Given the description of an element on the screen output the (x, y) to click on. 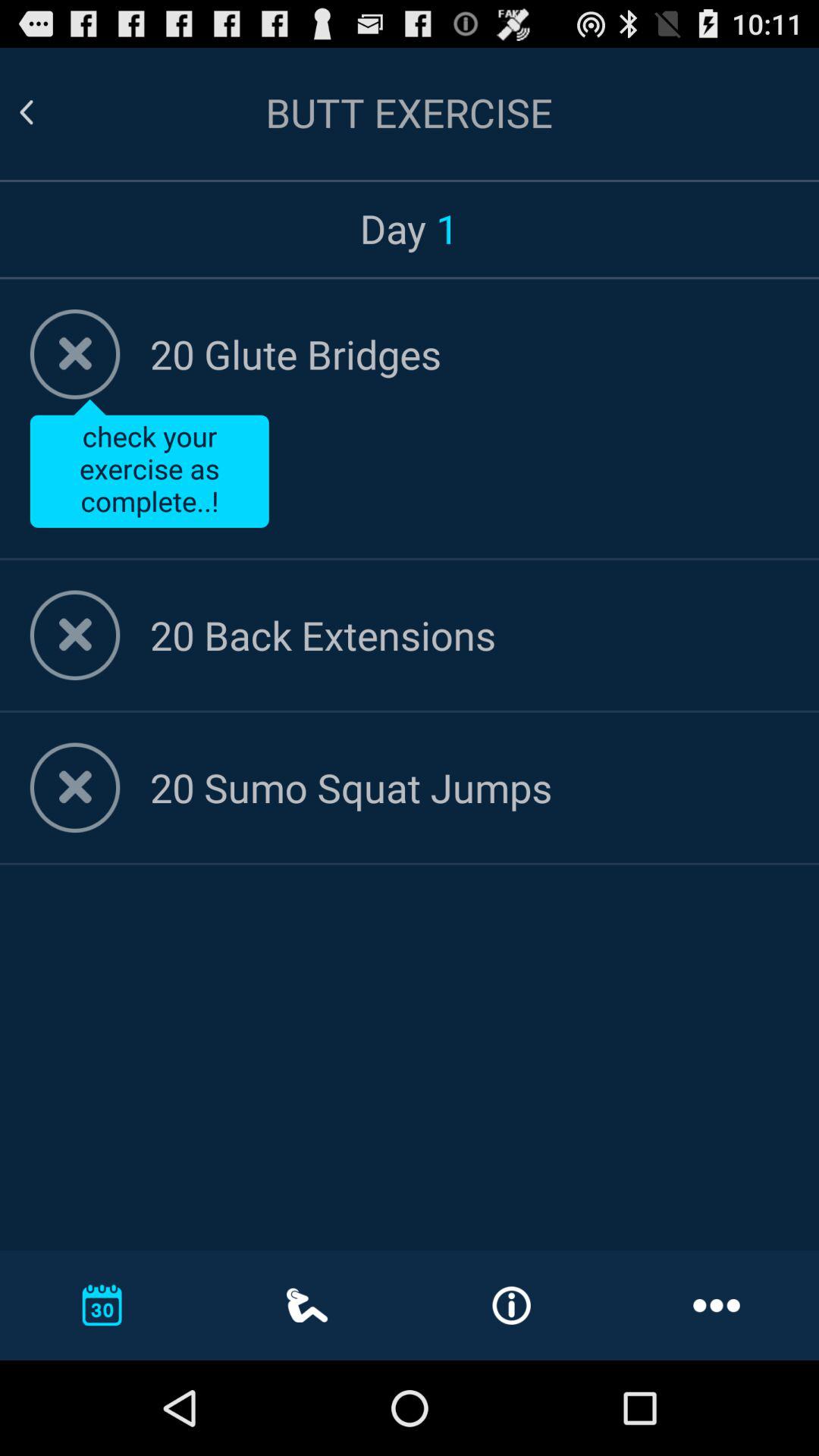
mark as complete (75, 354)
